Given the description of an element on the screen output the (x, y) to click on. 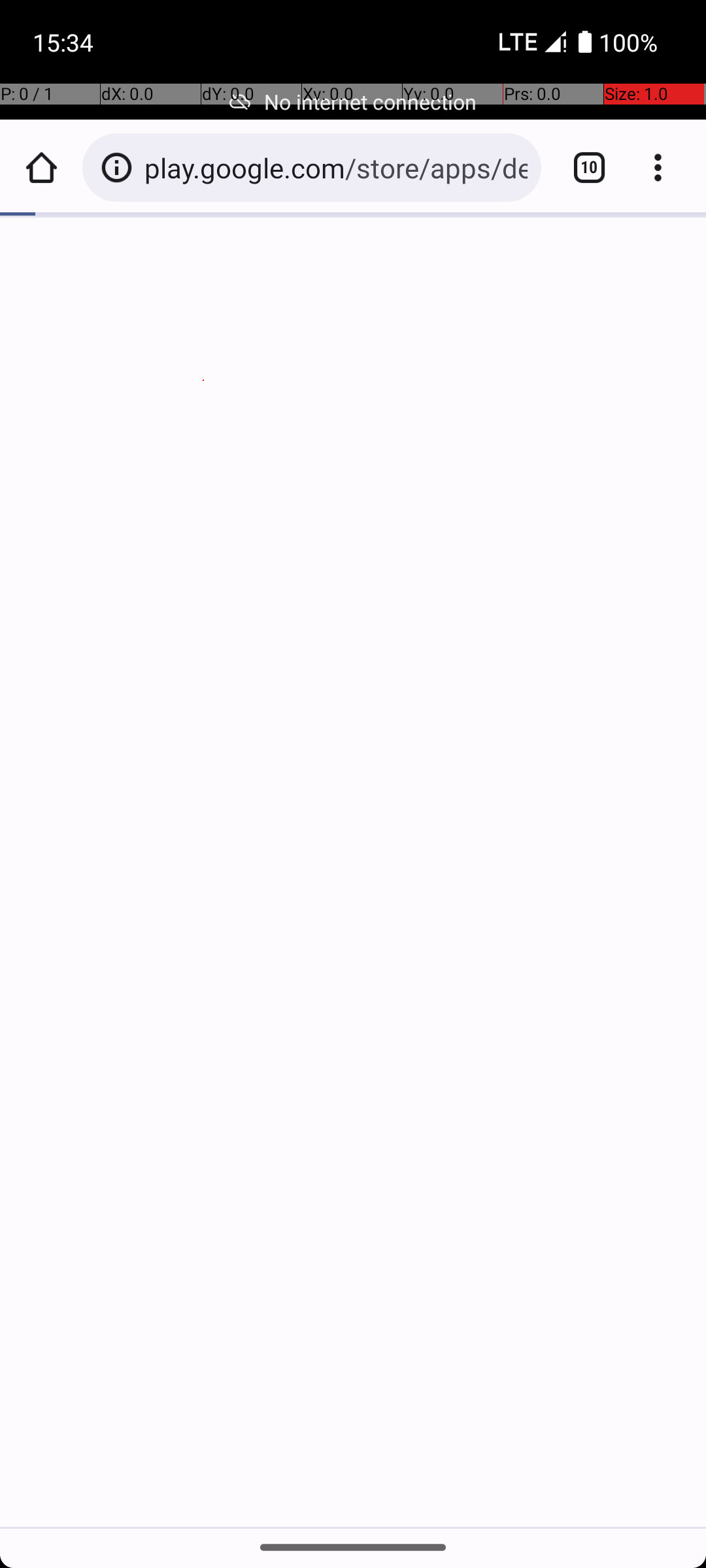
play.google.com/store/apps/details?id=net.gsantner.markor Element type: android.widget.EditText (335, 167)
